Given the description of an element on the screen output the (x, y) to click on. 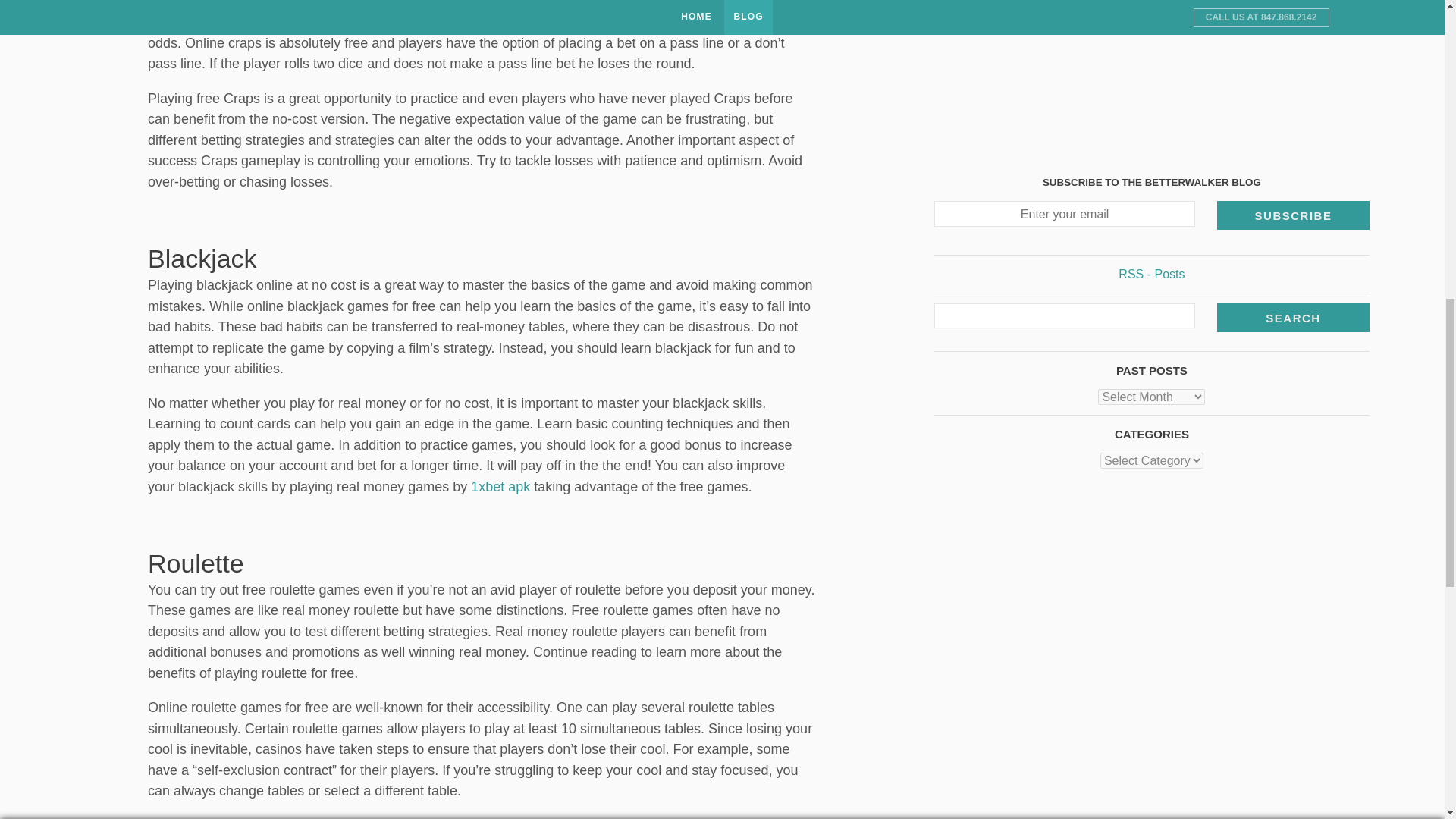
1xbet apk (499, 486)
